Given the description of an element on the screen output the (x, y) to click on. 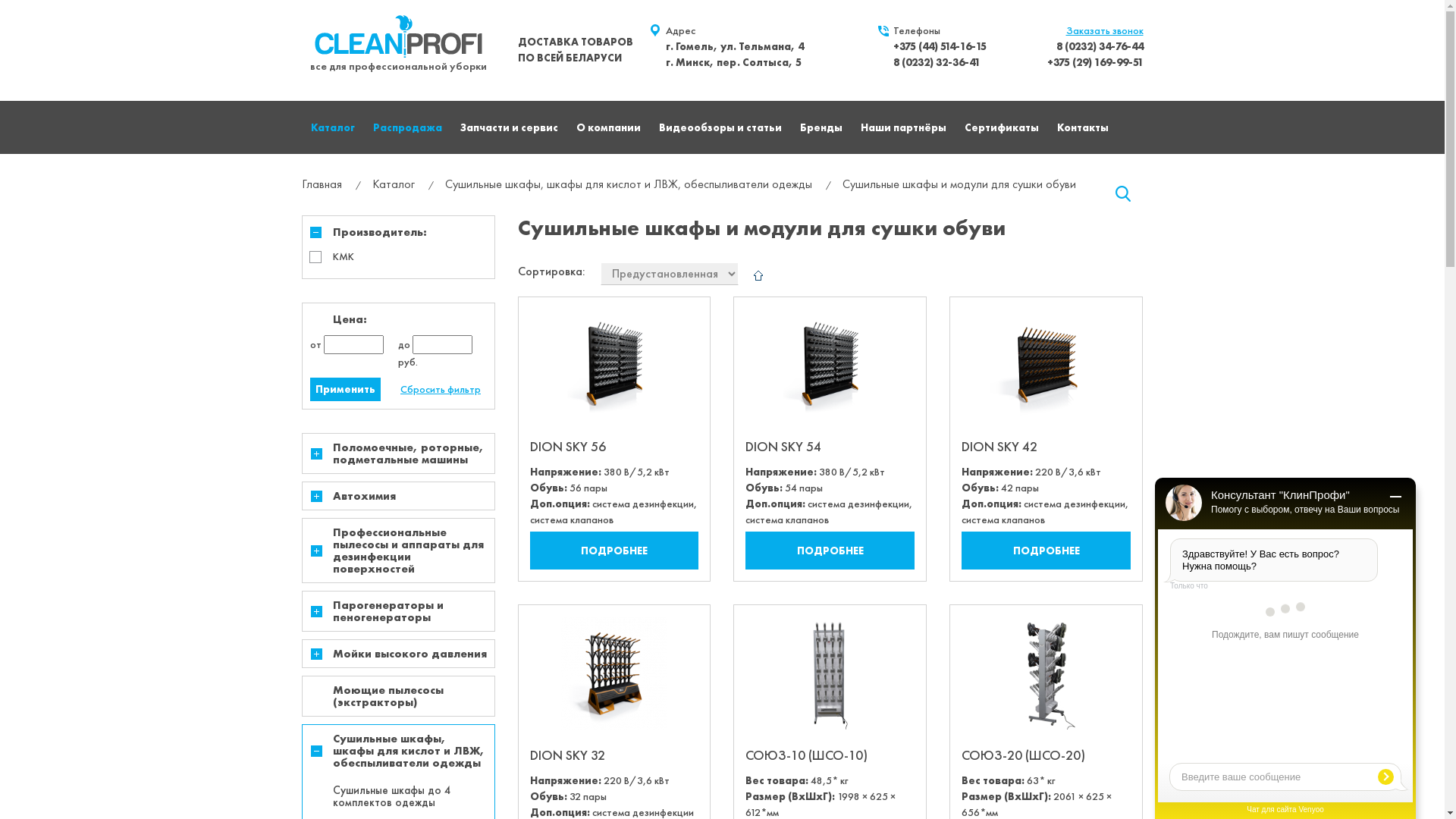
DION SKY 54 Element type: hover (829, 364)
DION SKY 32 Element type: text (566, 754)
DION SKY 56 Element type: text (567, 446)
DION SKY 56 Element type: hover (613, 364)
DION SKY 32 Element type: hover (613, 672)
DION SKY 42 Element type: text (999, 446)
18 Element type: text (4, 4)
+375 (29) 169-99-51 Element type: text (1094, 62)
DION SKY 54 Element type: text (783, 446)
8 (0232) 32-36-41 Element type: text (936, 62)
+375 (44) 514-16-15 Element type: text (939, 46)
DION SKY 42 Element type: hover (1045, 364)
8 (0232) 34-76-44 Element type: text (1098, 46)
